Given the description of an element on the screen output the (x, y) to click on. 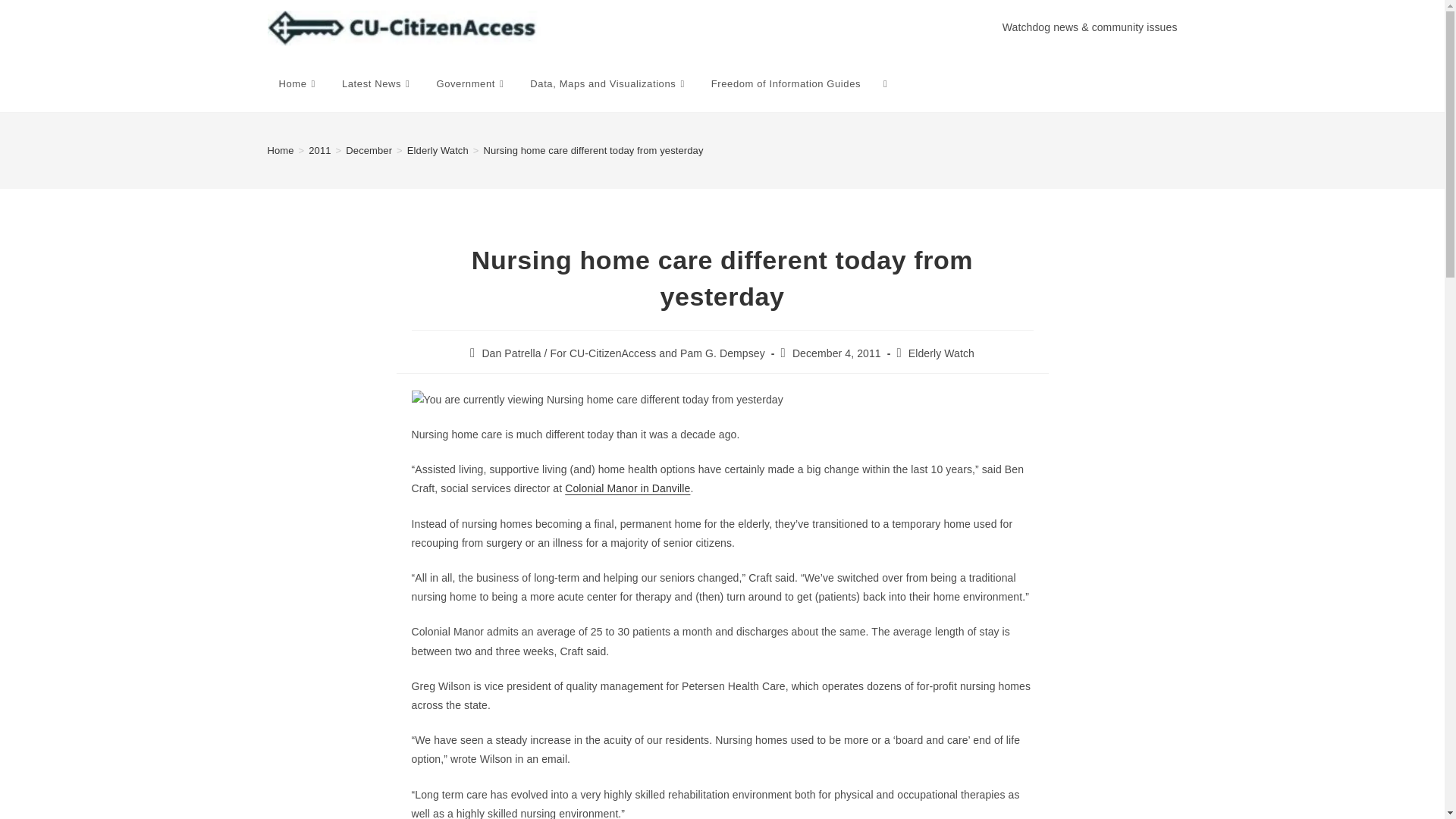
December (368, 150)
Toggle website search (885, 84)
Home (298, 84)
Government (471, 84)
Data, Maps and Visualizations (608, 84)
Nursing home care different today from yesterday (593, 150)
Home (280, 150)
2011 (319, 150)
Latest News (377, 84)
Elderly Watch (437, 150)
Freedom of Information Guides (786, 84)
